Given the description of an element on the screen output the (x, y) to click on. 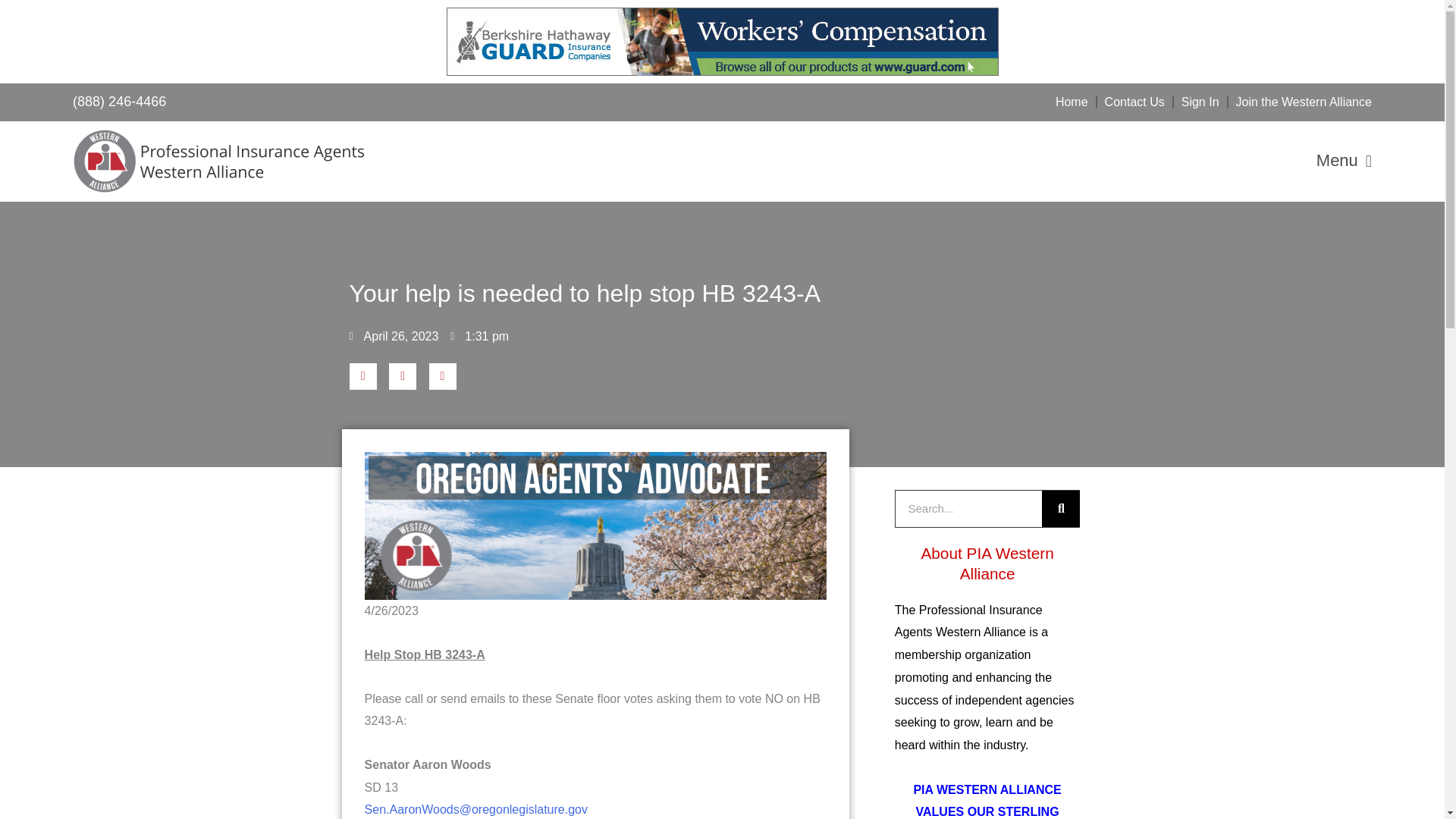
Join the Western Alliance (1303, 101)
Contact Us (1134, 101)
Sign In (1200, 101)
Home (1071, 101)
